Given the description of an element on the screen output the (x, y) to click on. 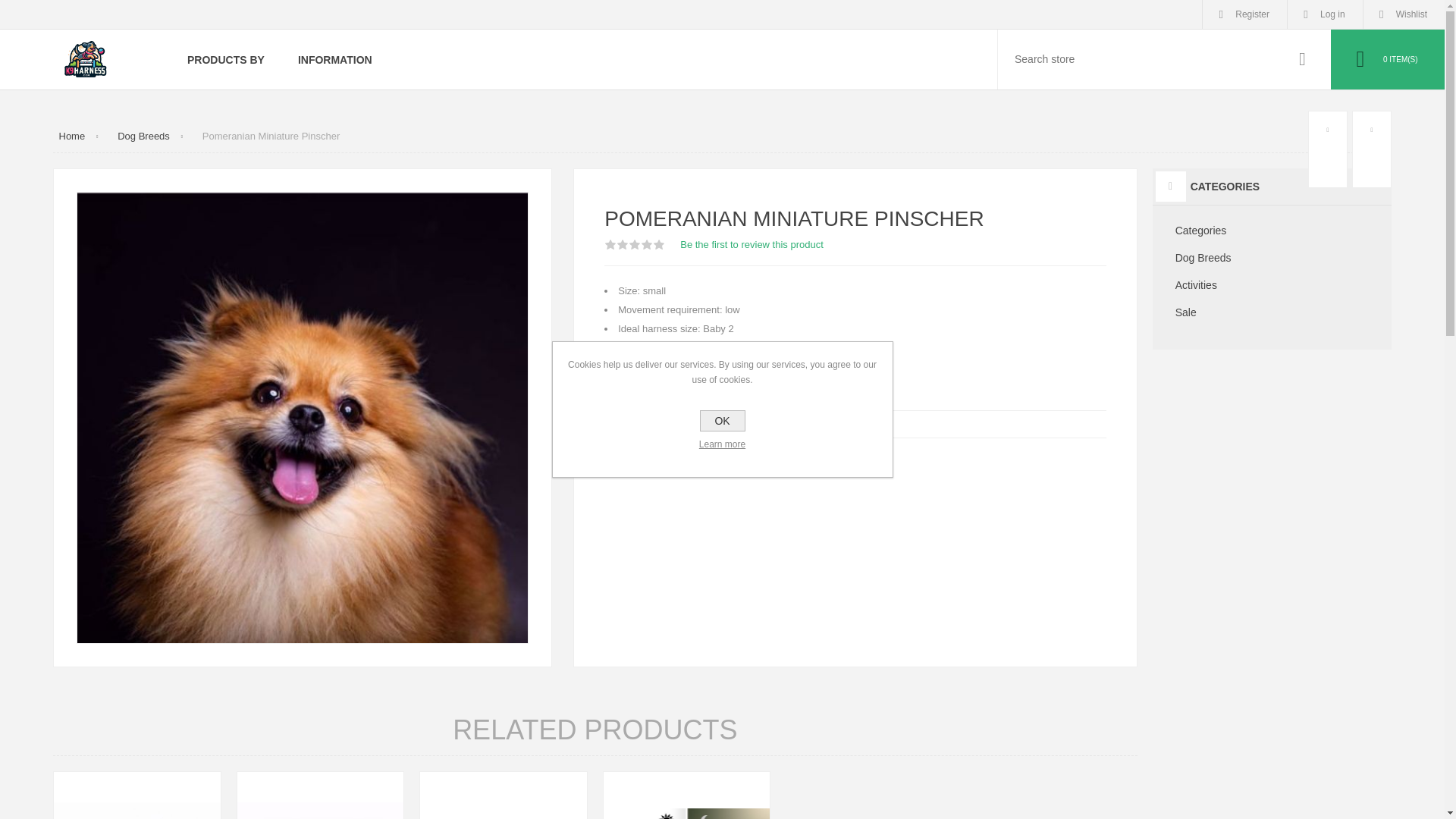
Register (1244, 14)
INFORMATION (334, 59)
Log in (1324, 14)
